Given the description of an element on the screen output the (x, y) to click on. 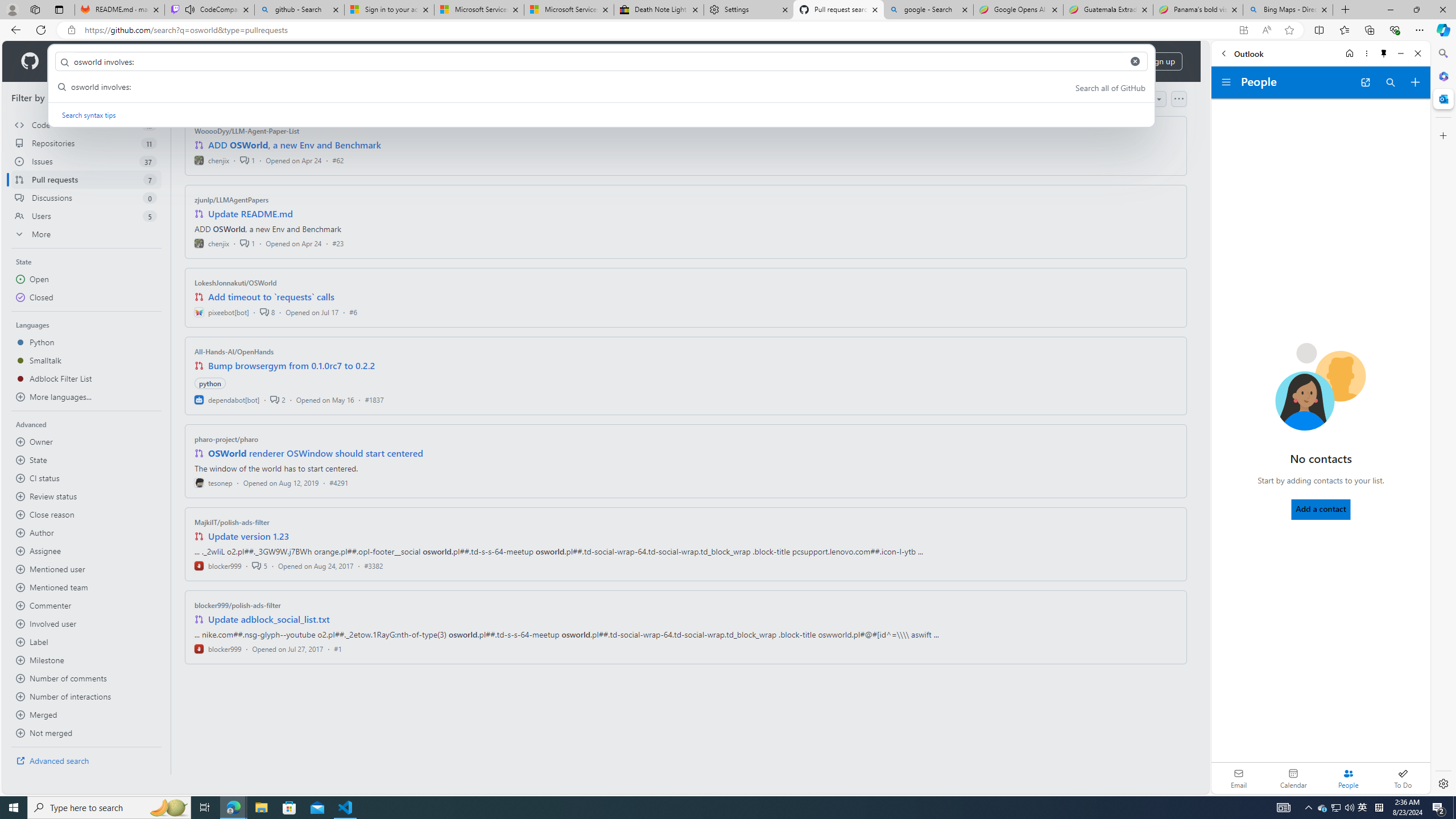
Advanced search (86, 760)
#4291 (338, 482)
LokeshJonnakuti/OSWorld (235, 282)
#23 (337, 242)
More (86, 234)
#1 (337, 648)
5 (259, 565)
#1 (337, 648)
Open Source (254, 60)
Open column options (1178, 98)
Sign up (1161, 61)
